Given the description of an element on the screen output the (x, y) to click on. 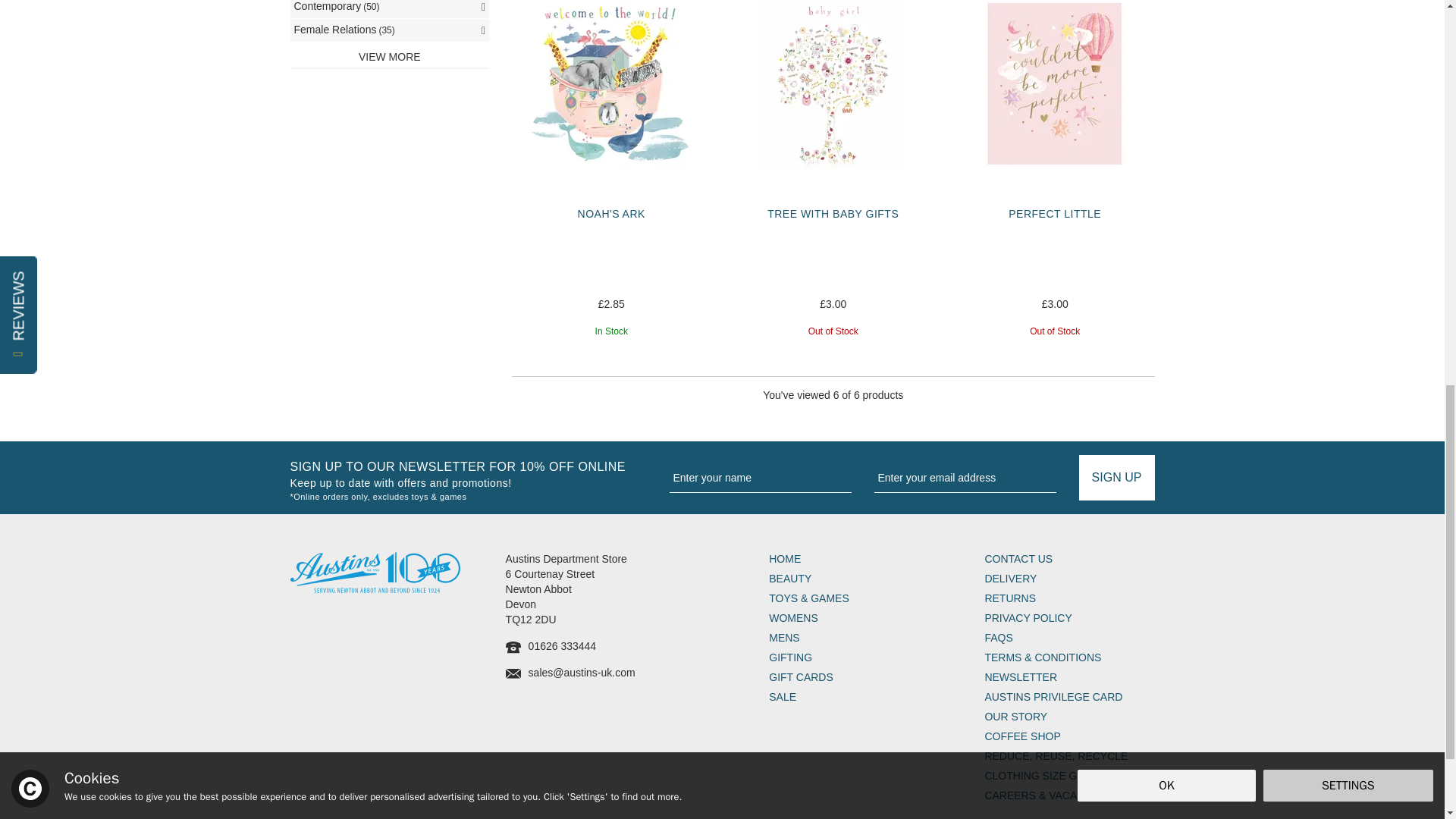
Home (853, 559)
Austins Privilege Card (1069, 697)
Gifting (853, 657)
Mens (853, 638)
Beauty (853, 579)
Contact Us (1069, 559)
Gift Cards (853, 677)
Our Story (1069, 717)
Coffee Shop (1069, 736)
Delivery (1069, 579)
Privacy Policy (1069, 618)
Newsletter (1069, 677)
Reduce, Reuse, Recycle (1069, 756)
Womens (853, 618)
Sale (853, 697)
